Given the description of an element on the screen output the (x, y) to click on. 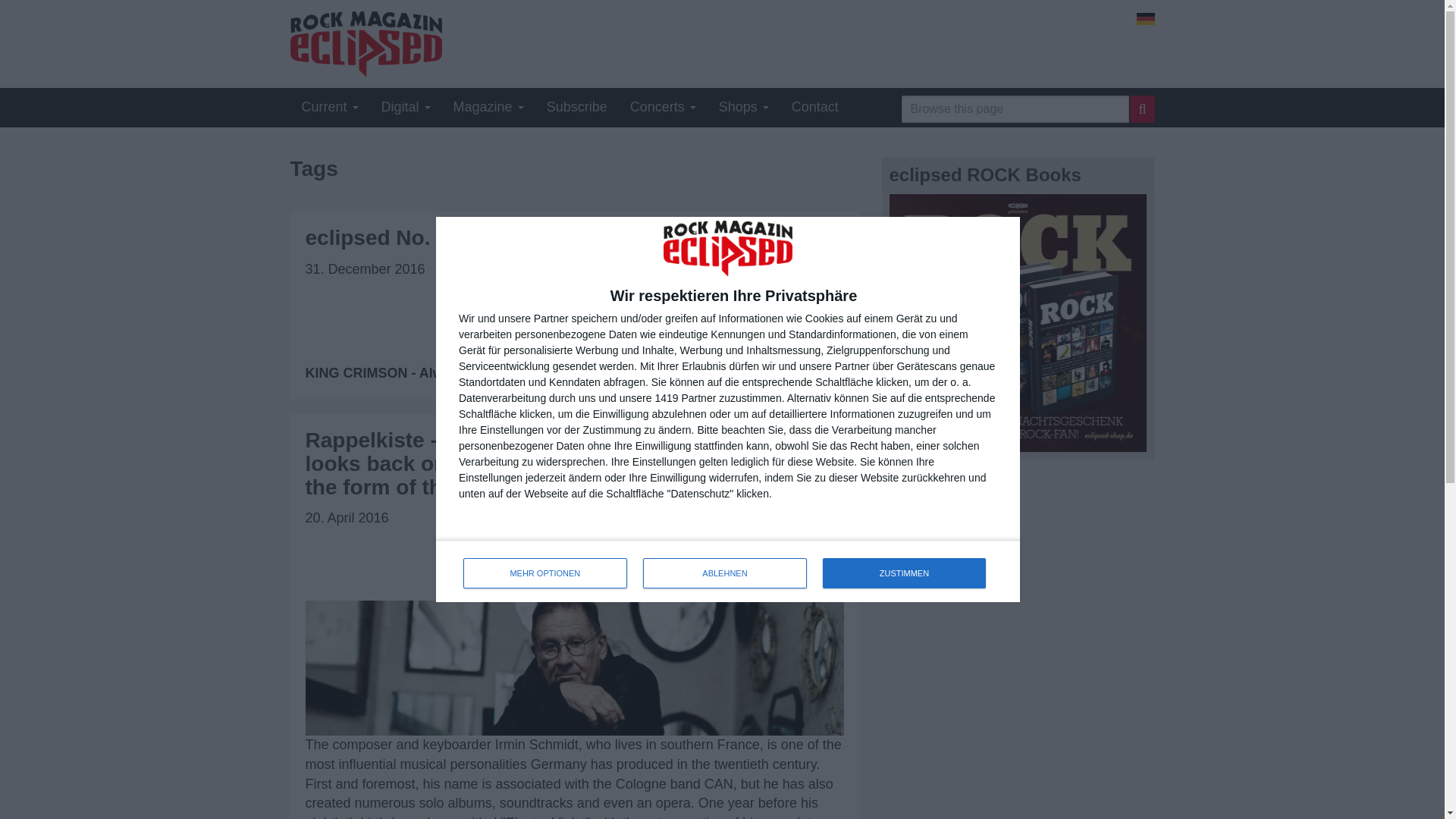
Magazine (488, 106)
ZUSTIMMEN (727, 570)
Deutsch (903, 572)
Irmin Schmidt (1144, 19)
MEHR OPTIONEN (1144, 19)
eclipsed Rock Books - Order now! (545, 572)
Digital (1017, 323)
Subscribe (405, 106)
Home (576, 106)
